Given the description of an element on the screen output the (x, y) to click on. 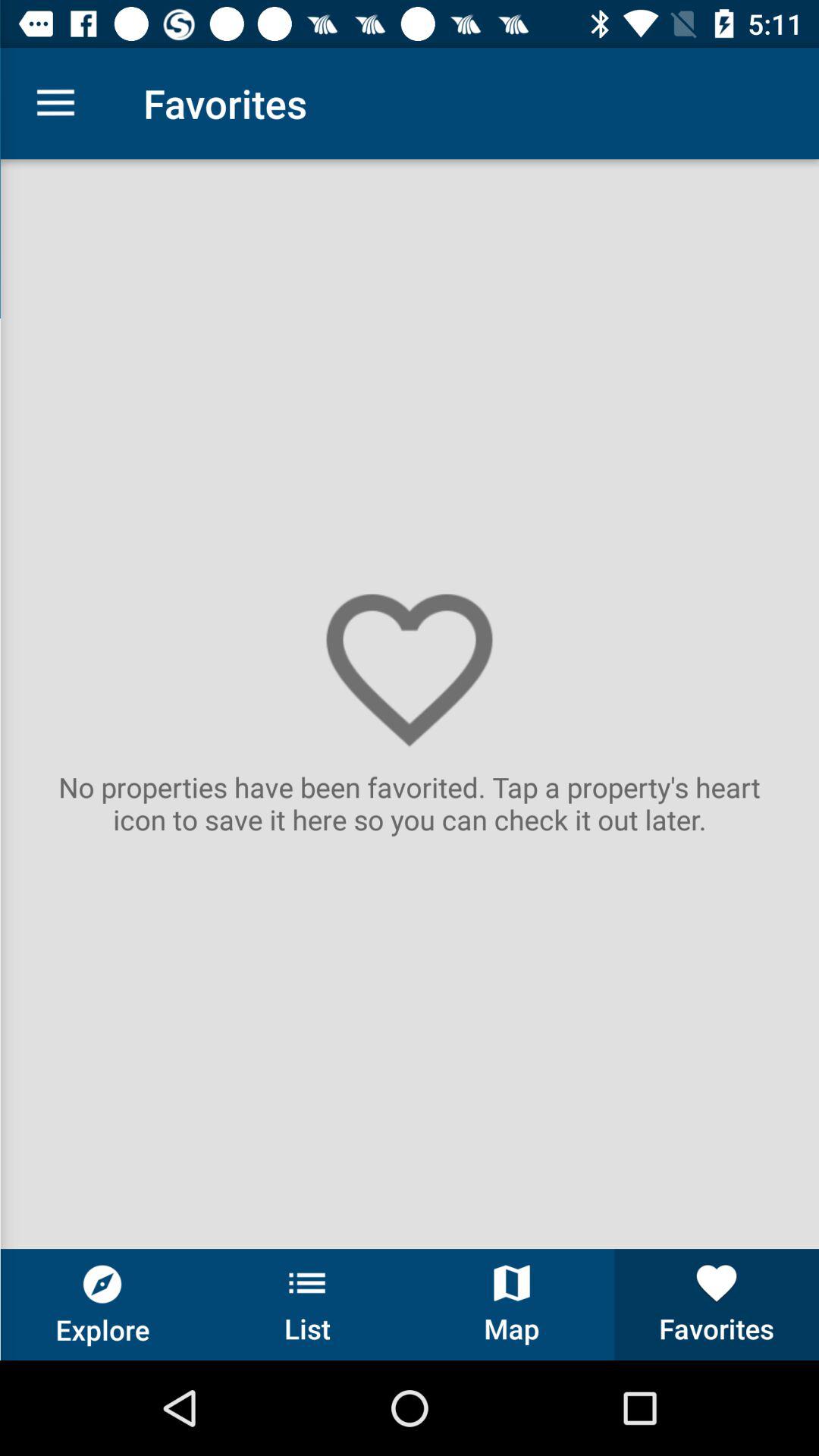
launch explore item (102, 1304)
